Given the description of an element on the screen output the (x, y) to click on. 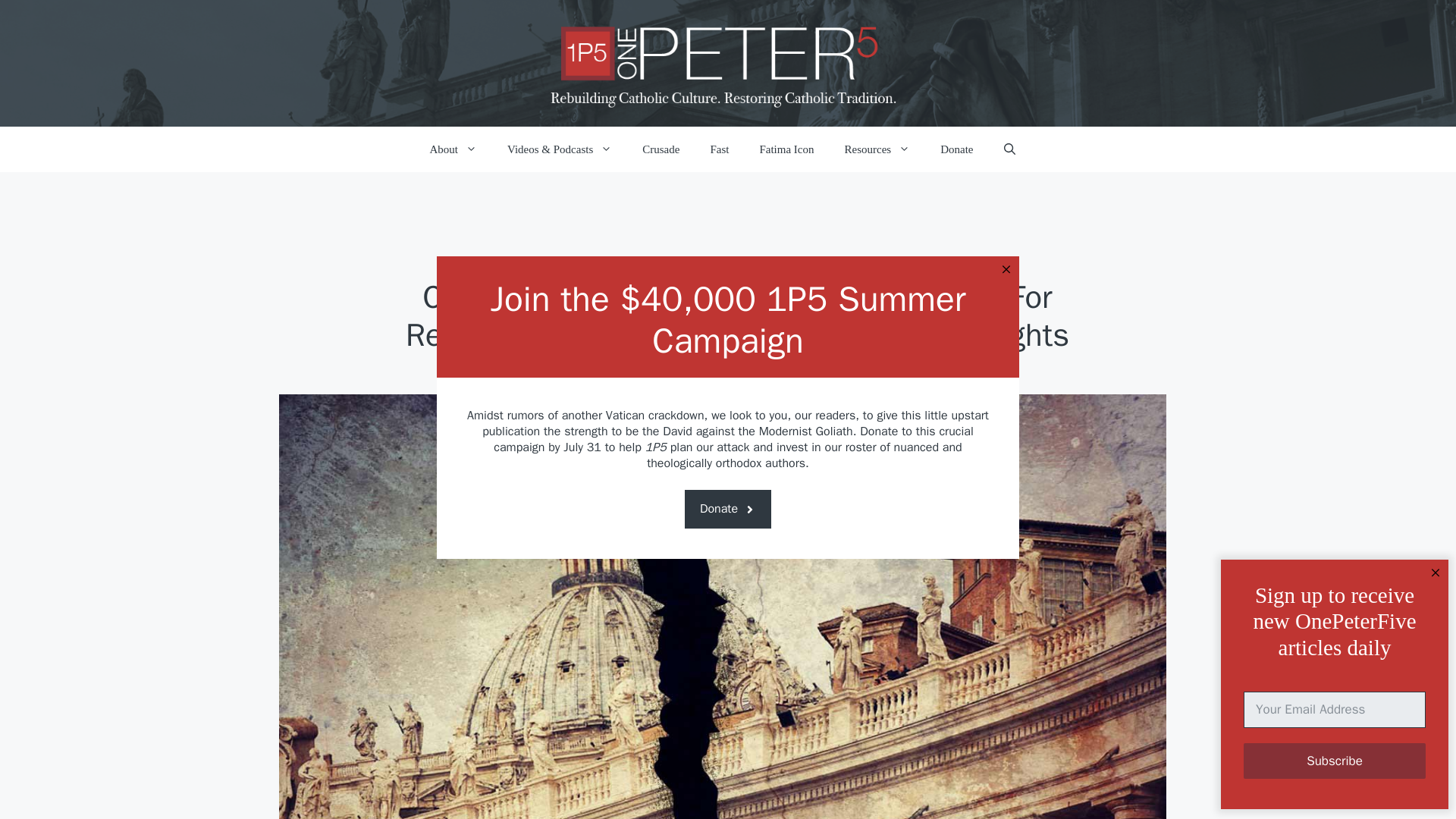
Posts by  Steve Skojec (704, 419)
About (452, 148)
Posts by  Steve Skojec (664, 419)
